Given the description of an element on the screen output the (x, y) to click on. 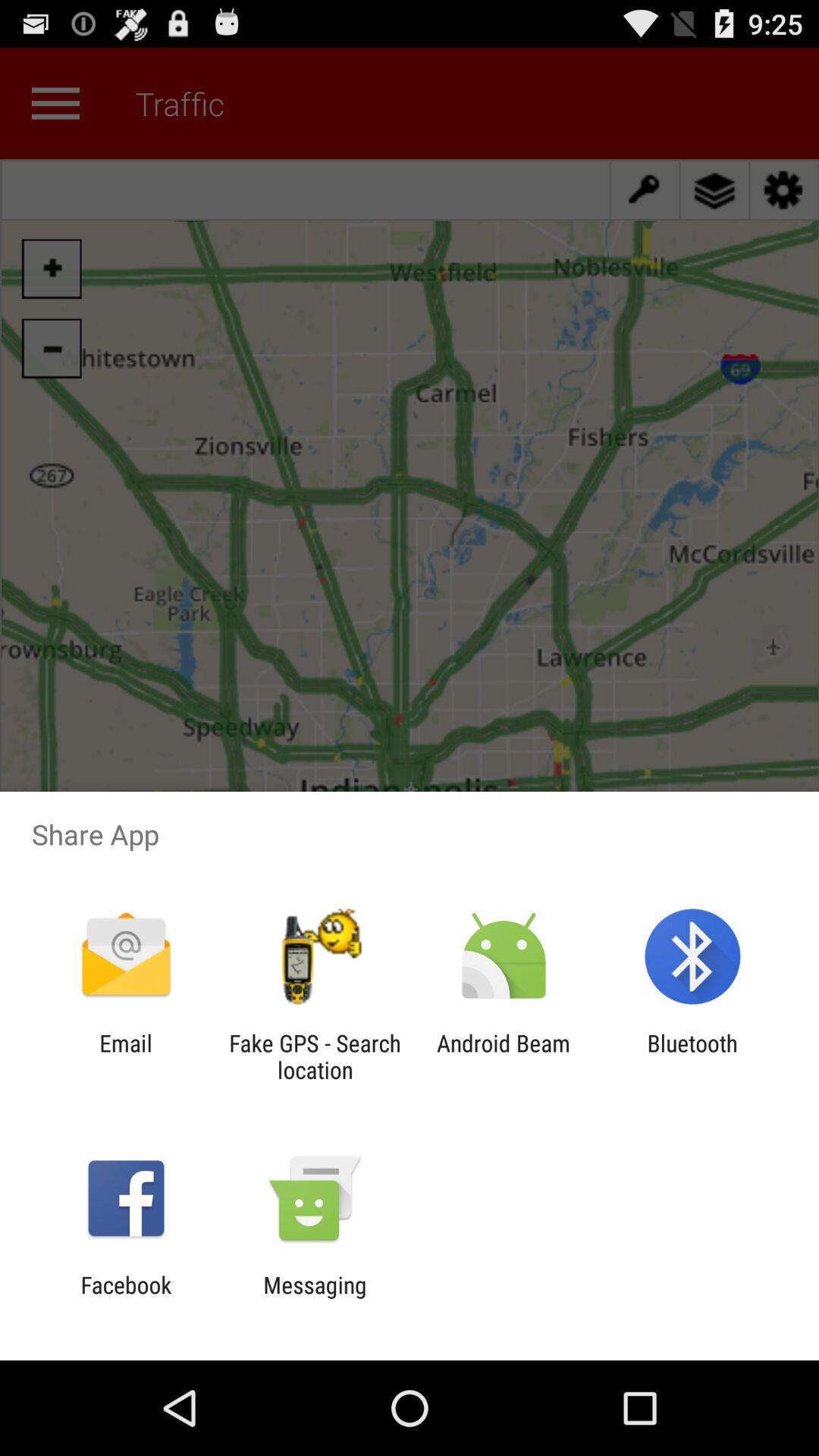
select the messaging (314, 1298)
